Given the description of an element on the screen output the (x, y) to click on. 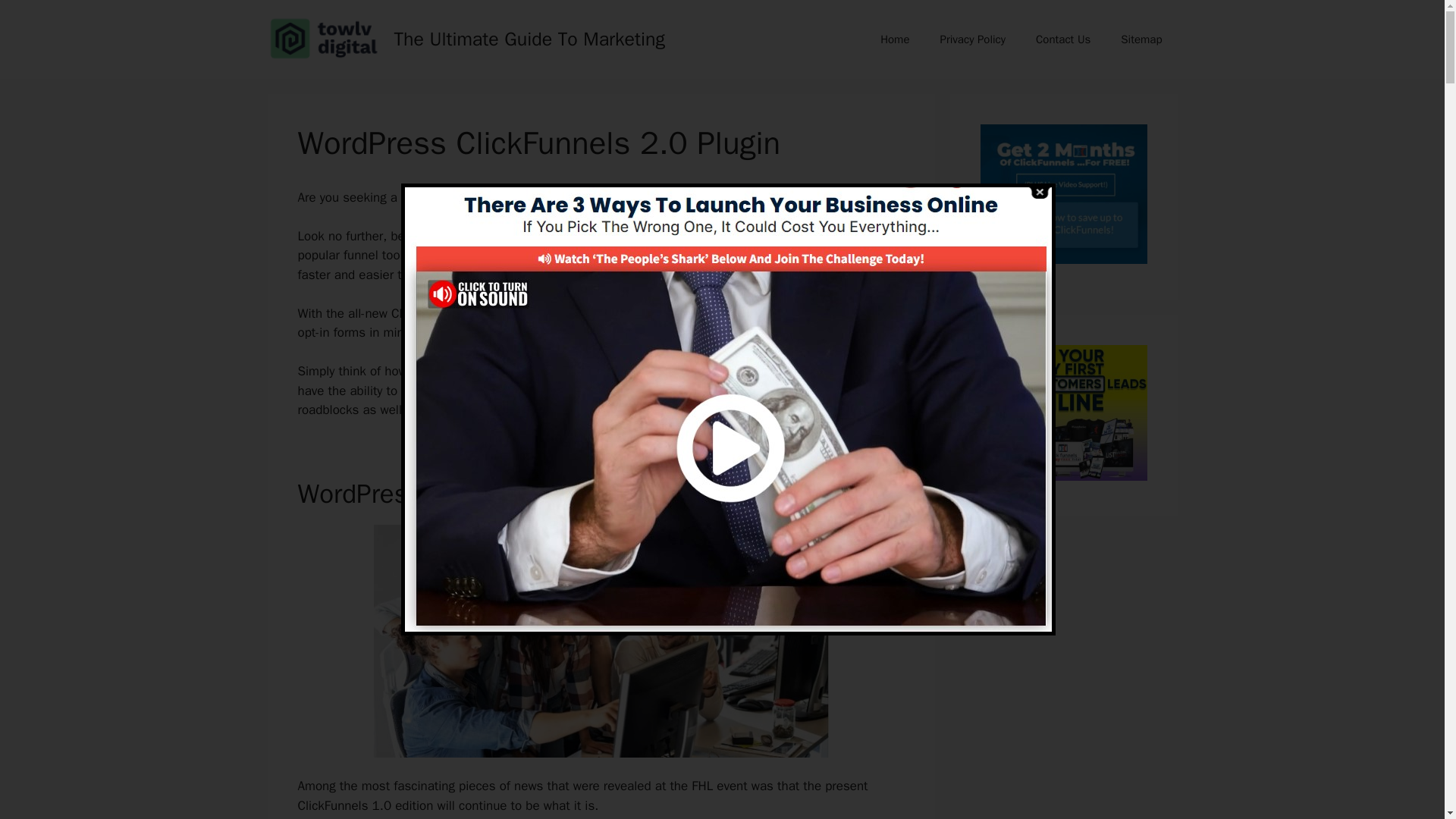
Contact Us (1062, 39)
Privacy Policy (972, 39)
Sitemap (1140, 39)
Home (894, 39)
The Ultimate Guide To Marketing (529, 38)
